Given the description of an element on the screen output the (x, y) to click on. 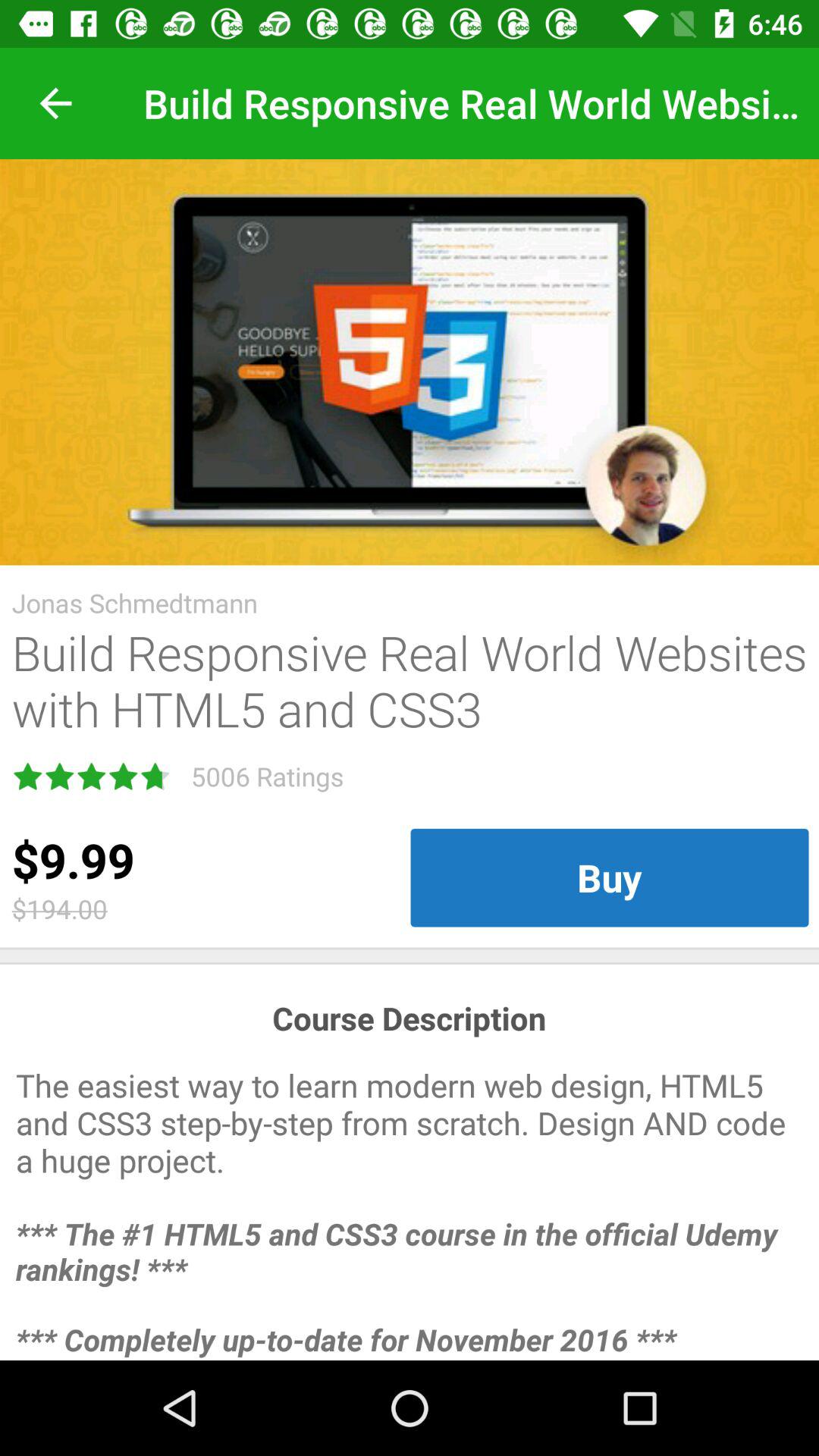
turn on the buy on the right (609, 877)
